Given the description of an element on the screen output the (x, y) to click on. 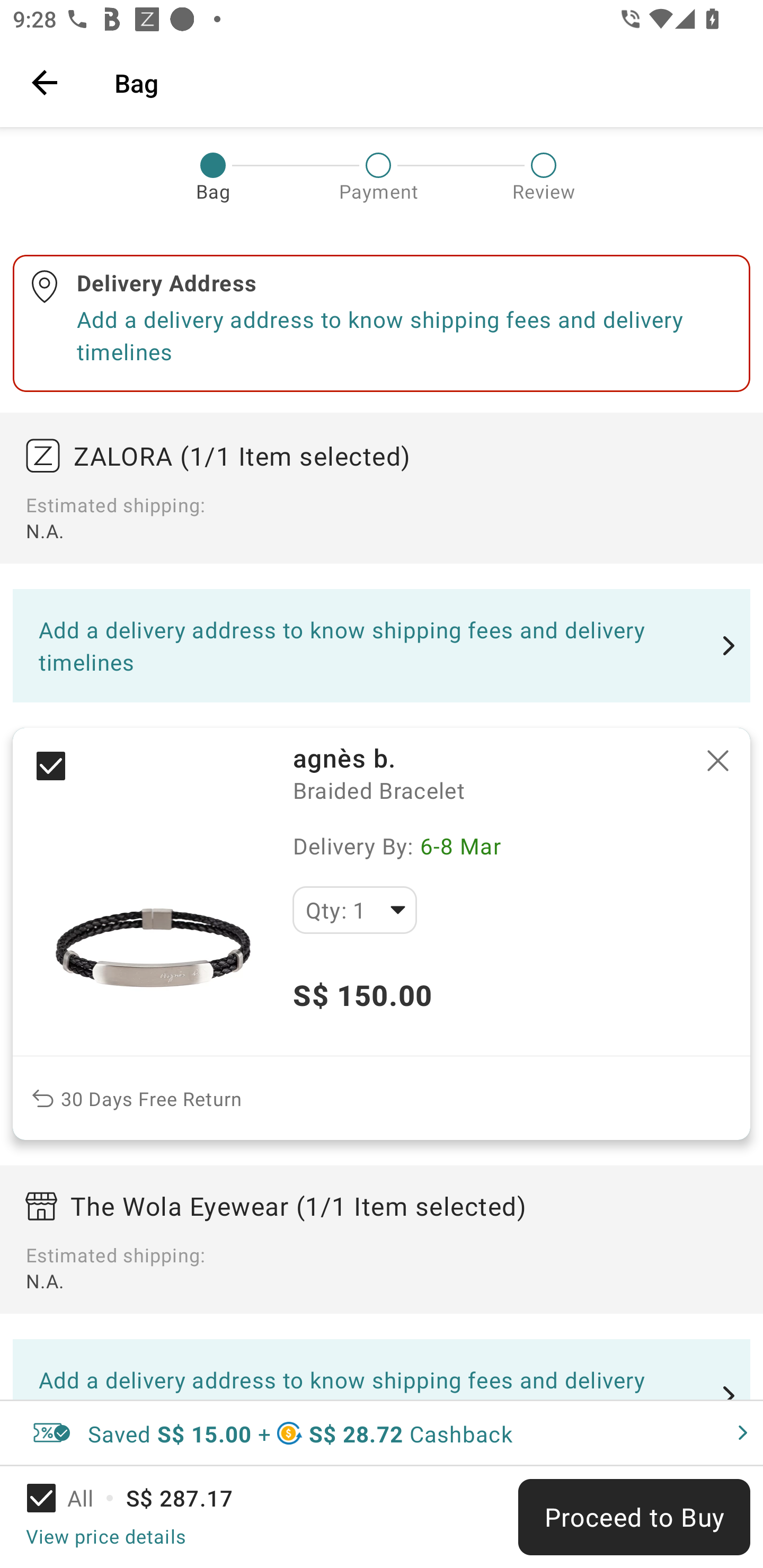
Navigate up (44, 82)
Bag (426, 82)
Qty: 1 (354, 909)
Saved S$ 15.00 +   S$ 28.72 Cashback (381, 1432)
All (72, 1497)
Proceed to Buy (634, 1516)
View price details (105, 1535)
